Given the description of an element on the screen output the (x, y) to click on. 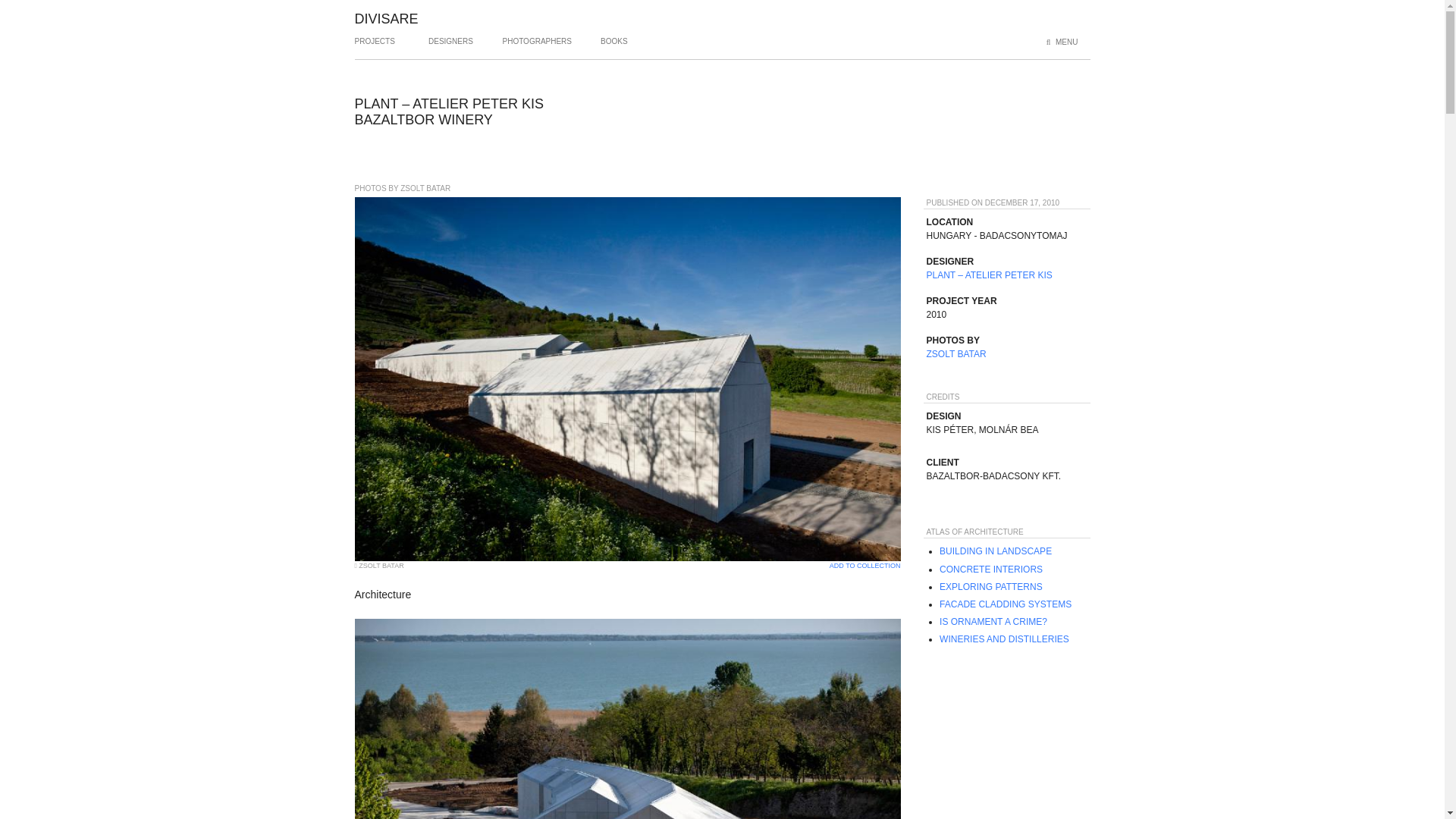
PROJECTS (374, 46)
DIVISARE (387, 18)
